Given the description of an element on the screen output the (x, y) to click on. 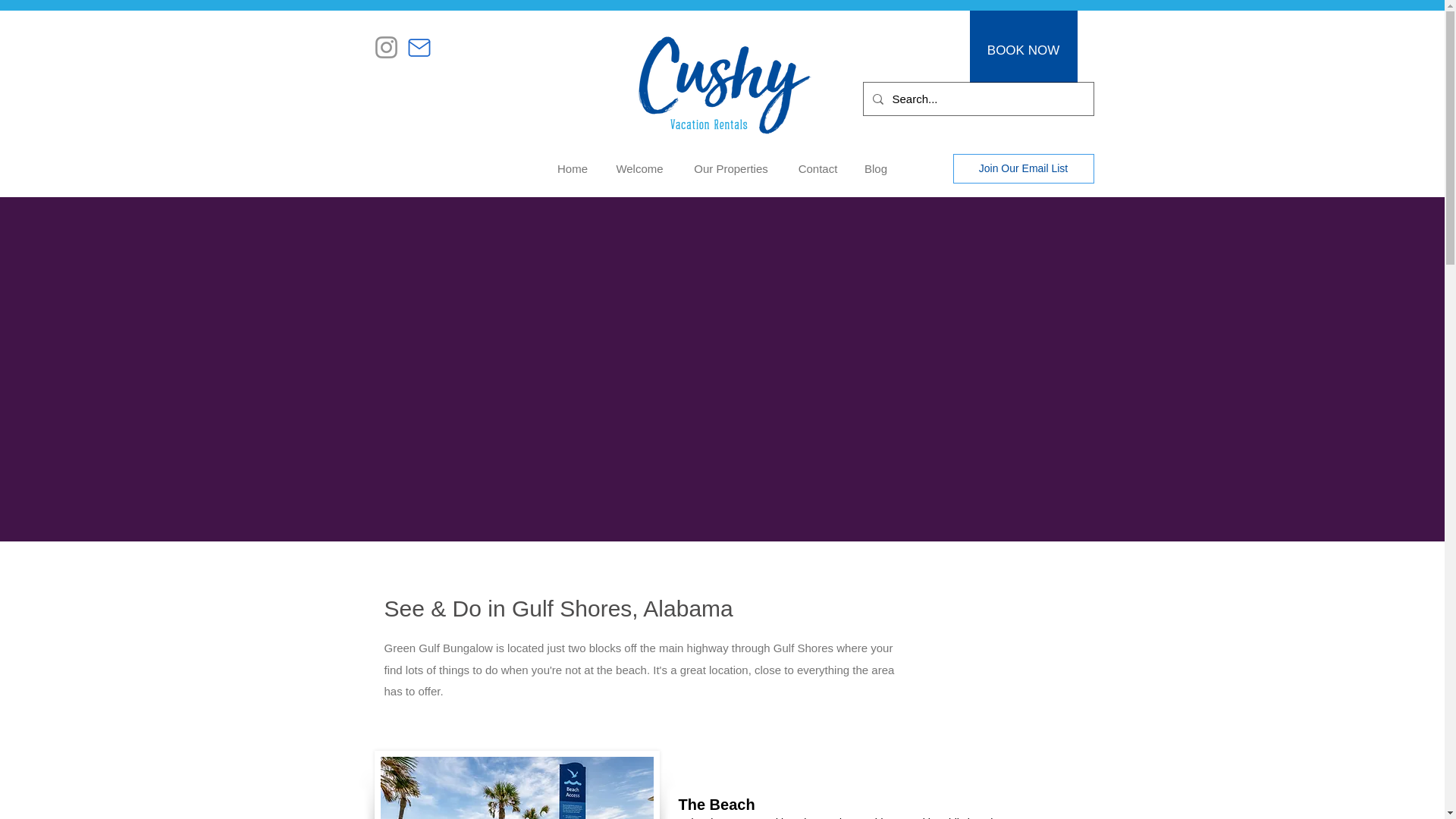
BOOK NOW (1023, 50)
Join Our Email List (1022, 168)
Our Properties (731, 168)
Welcome (639, 168)
Home (572, 168)
Blog (875, 168)
Contact (817, 168)
